Given the description of an element on the screen output the (x, y) to click on. 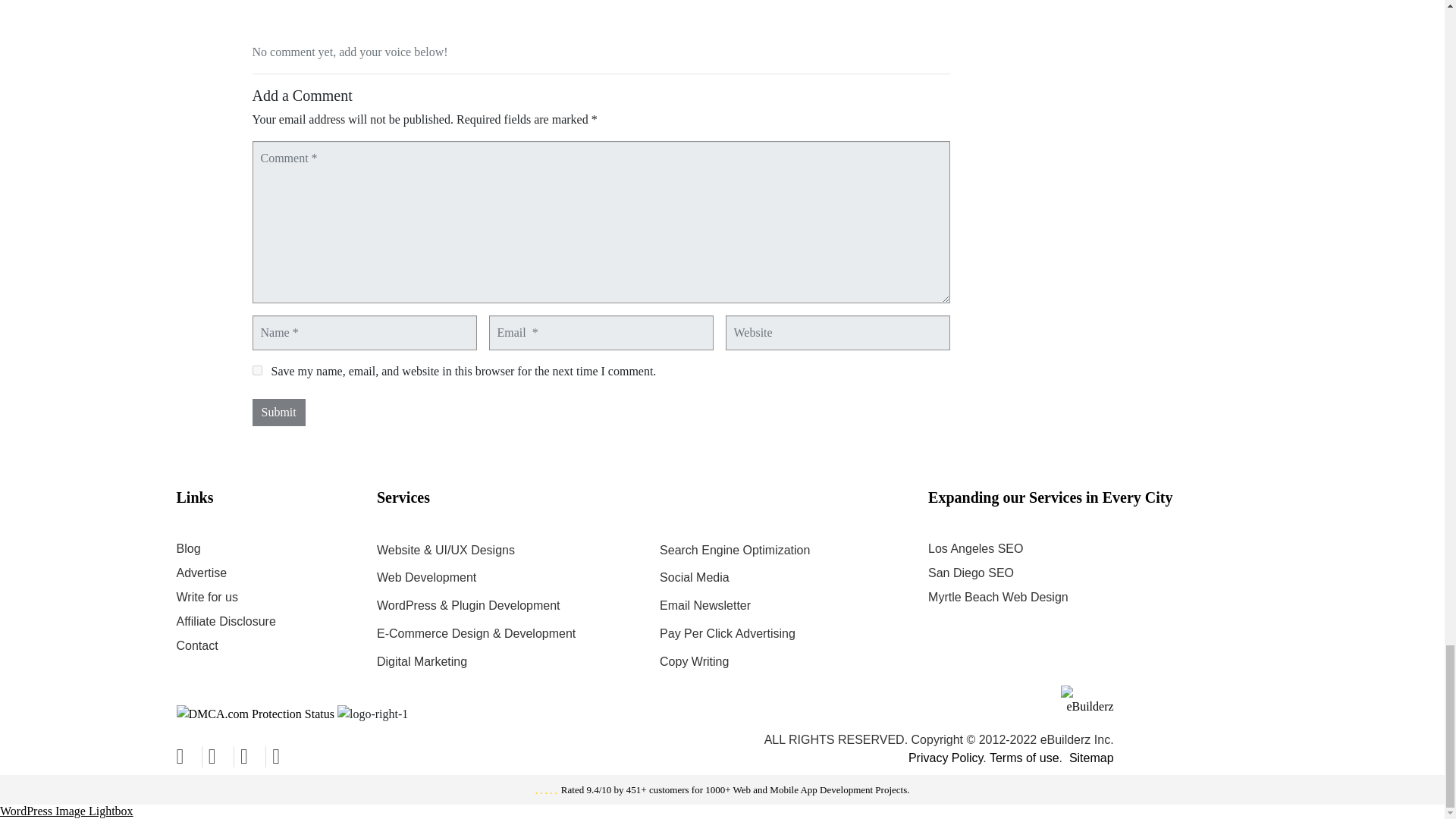
yes (256, 370)
DMCA.com Protection Status (254, 712)
WordPress Image Lightbox (66, 810)
